Given the description of an element on the screen output the (x, y) to click on. 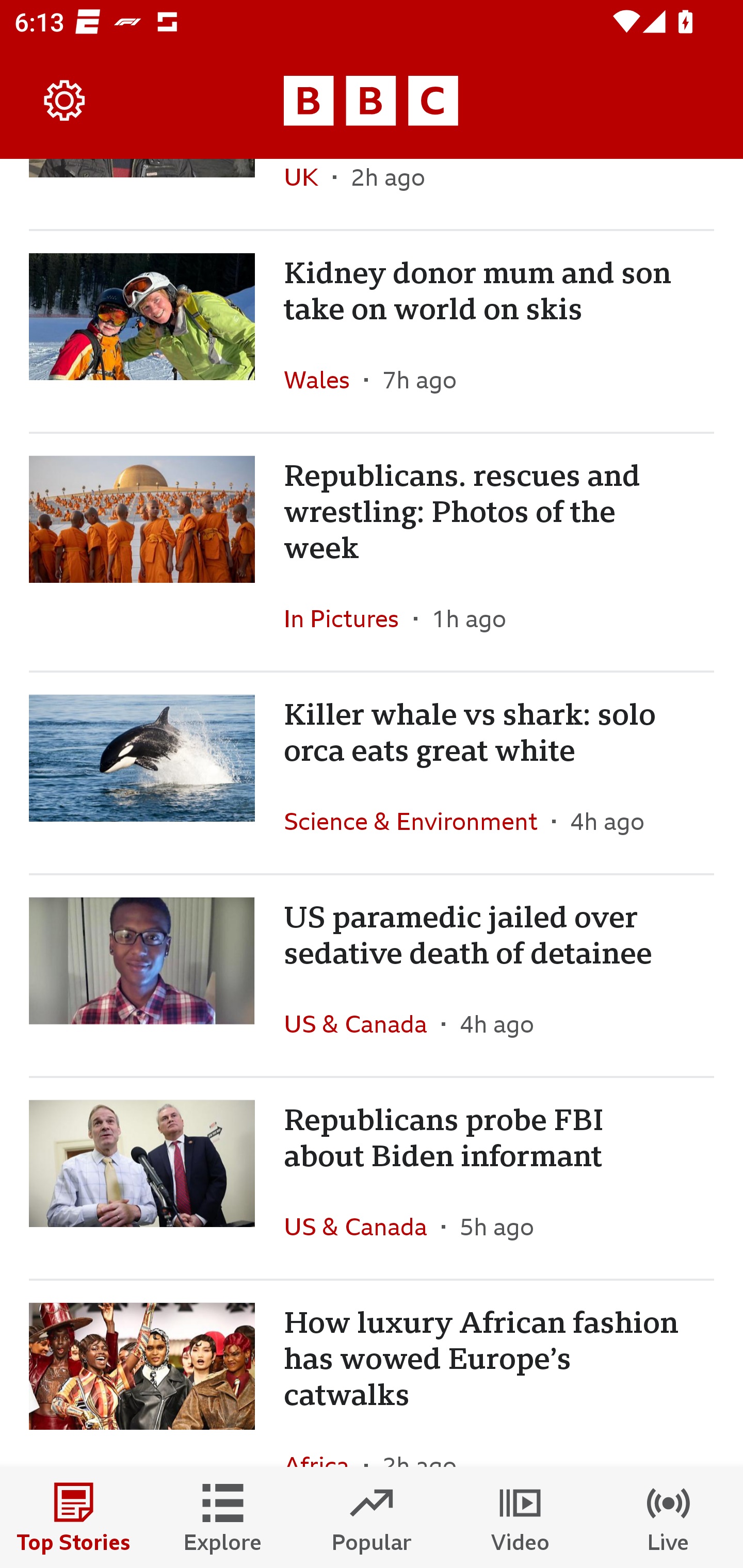
Settings (64, 100)
UK In the section UK (307, 193)
Wales In the section Wales (323, 379)
In Pictures In the section In Pictures (348, 618)
US & Canada In the section US & Canada (362, 1023)
US & Canada In the section US & Canada (362, 1225)
Explore (222, 1517)
Popular (371, 1517)
Video (519, 1517)
Live (668, 1517)
